Given the description of an element on the screen output the (x, y) to click on. 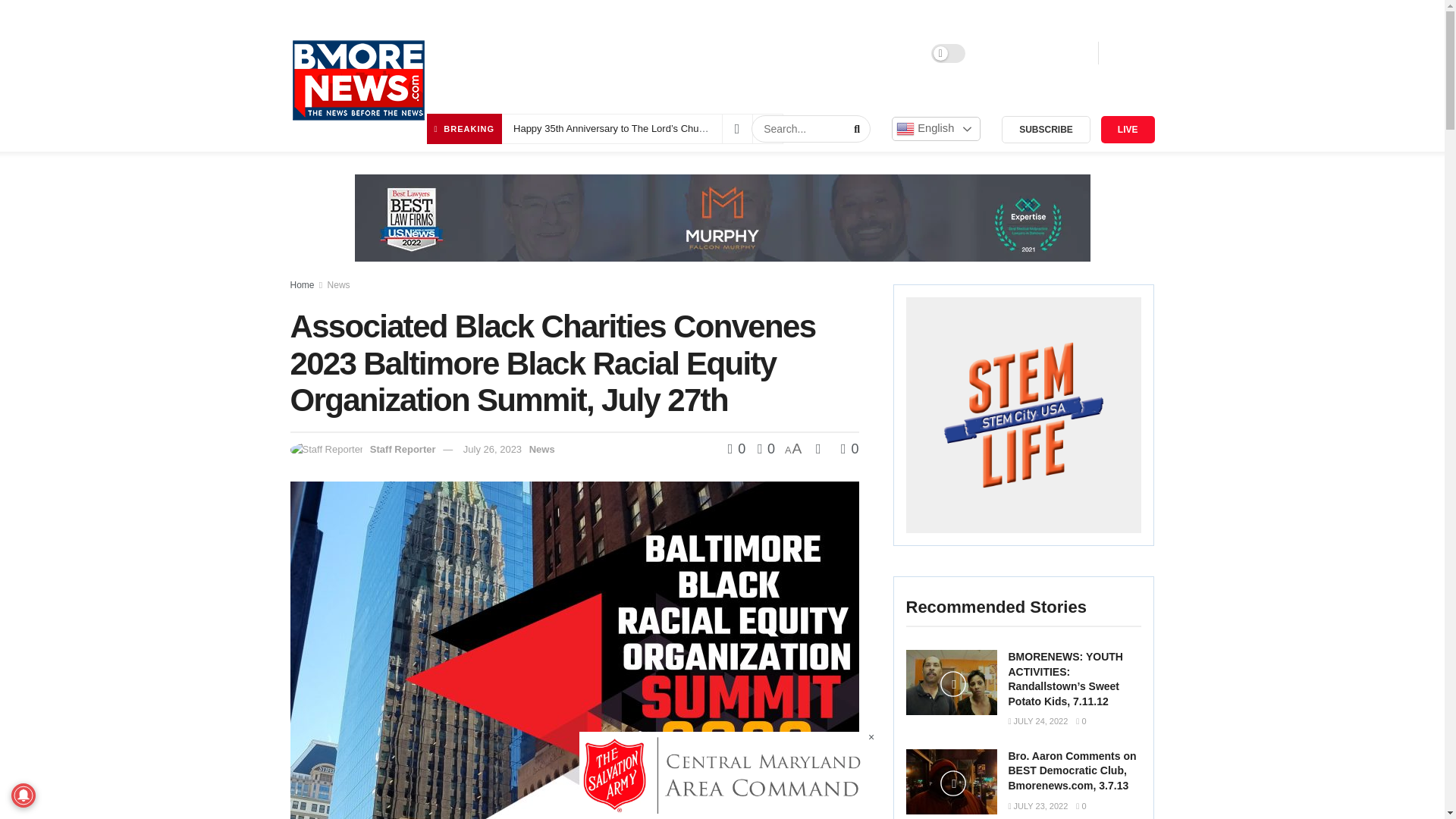
Login (1005, 53)
BUSINESS (707, 53)
English (935, 128)
POLITICS (838, 53)
LATEST NEWS (491, 53)
LIVE (1127, 129)
SUBSCRIBE (1045, 129)
Register (1061, 53)
STOCKS (773, 53)
VIDEOS (901, 53)
BLACK WALL STREET (604, 53)
close (871, 737)
